Given the description of an element on the screen output the (x, y) to click on. 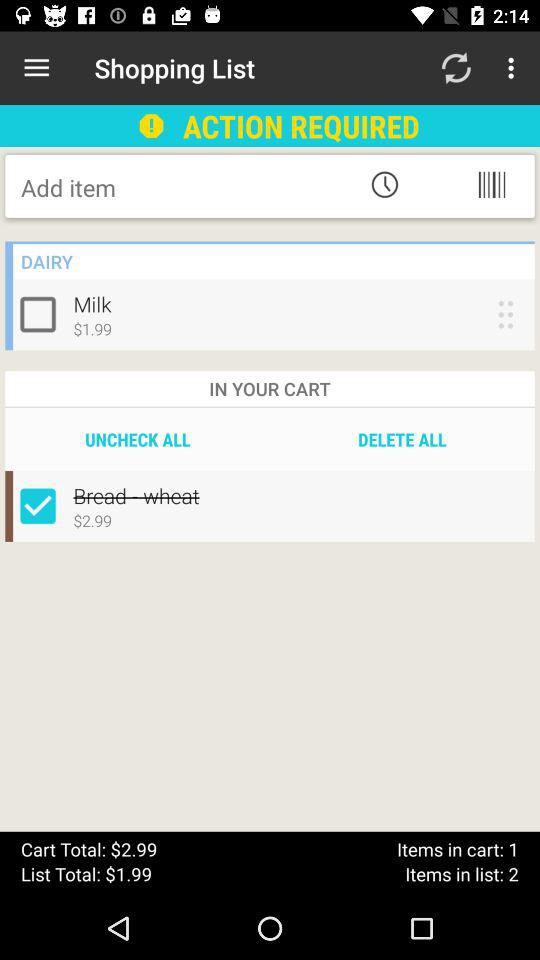
launch icon next to the delete all (137, 439)
